Given the description of an element on the screen output the (x, y) to click on. 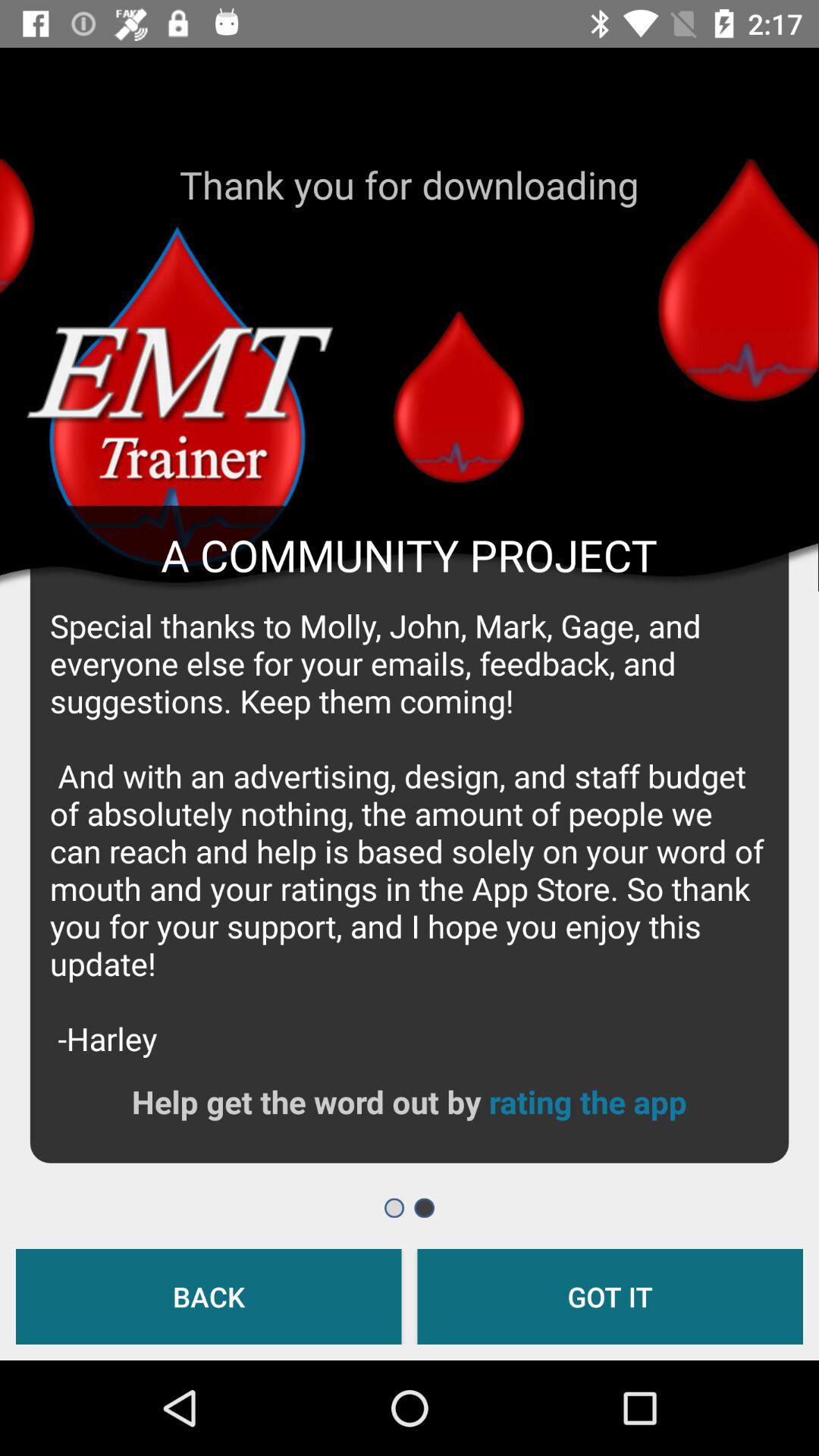
scroll until the back (208, 1296)
